Given the description of an element on the screen output the (x, y) to click on. 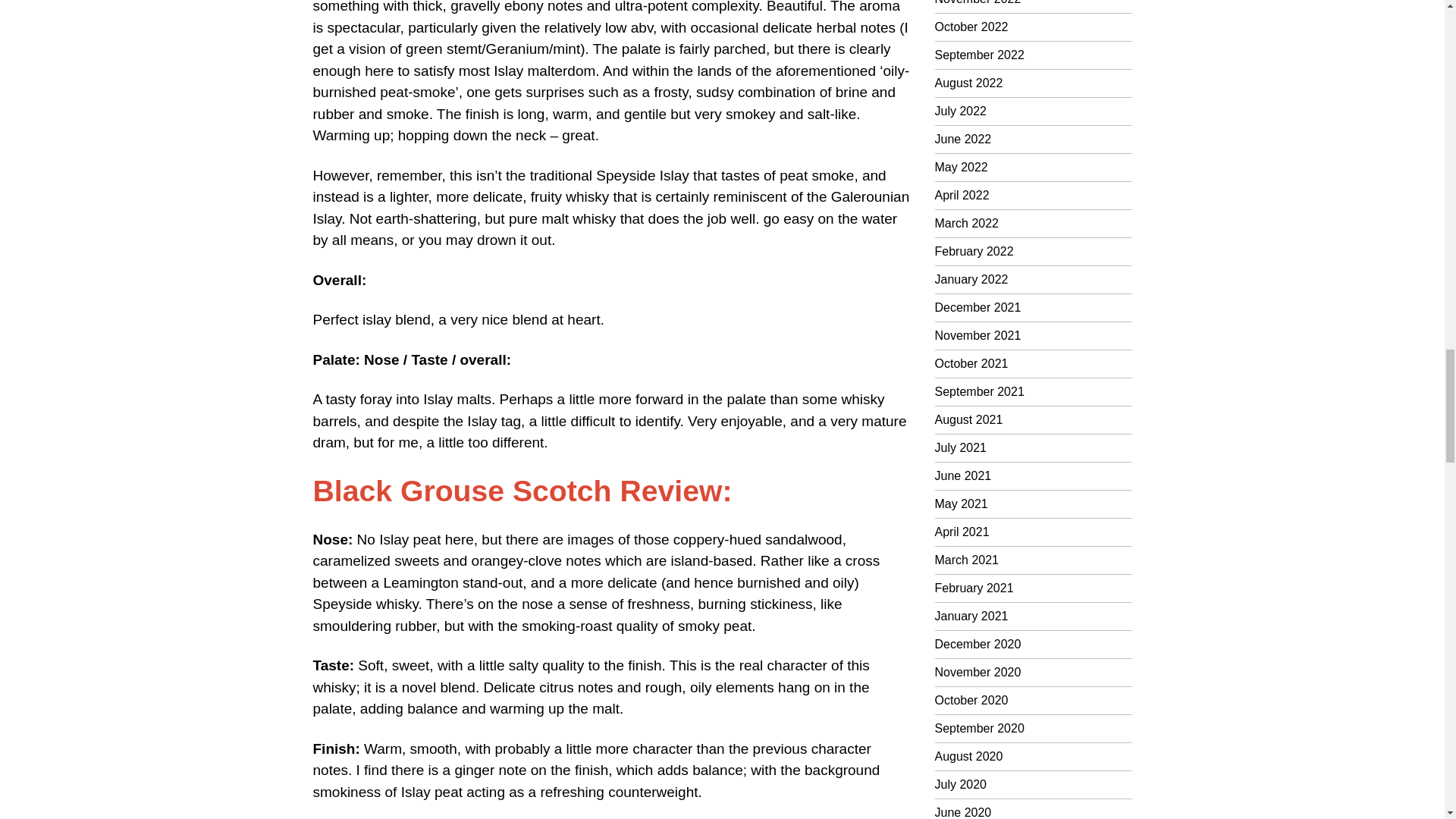
Black Grouse Scotch Review: (522, 490)
